Given the description of an element on the screen output the (x, y) to click on. 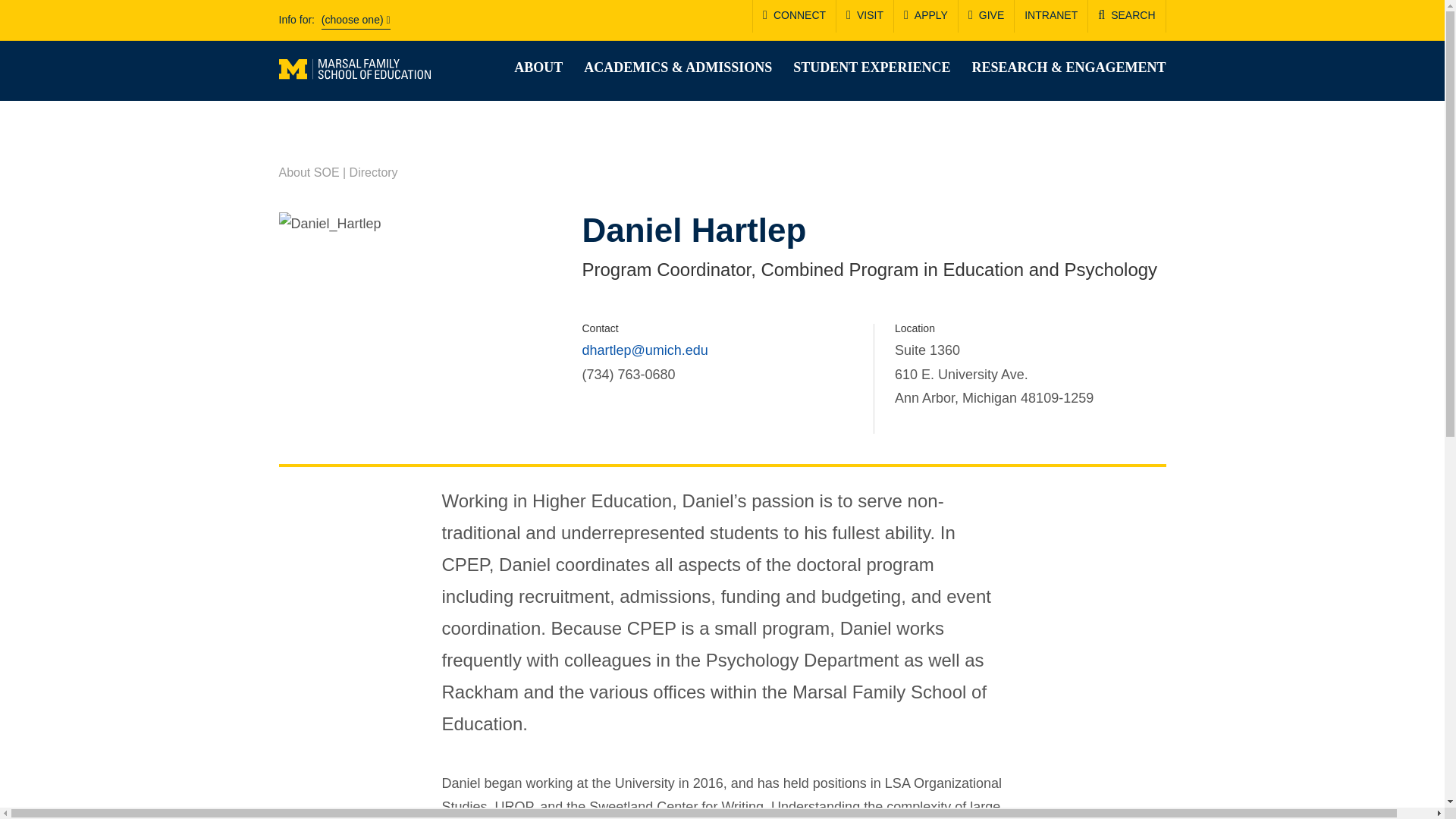
Home (354, 68)
ABOUT MARSAL SCHOOL (537, 67)
Search (888, 123)
STUDENT EXPERIENCE (871, 67)
ABOUT (537, 67)
Click enter to change roles (355, 21)
Skip to main content (7, 3)
